Given the description of an element on the screen output the (x, y) to click on. 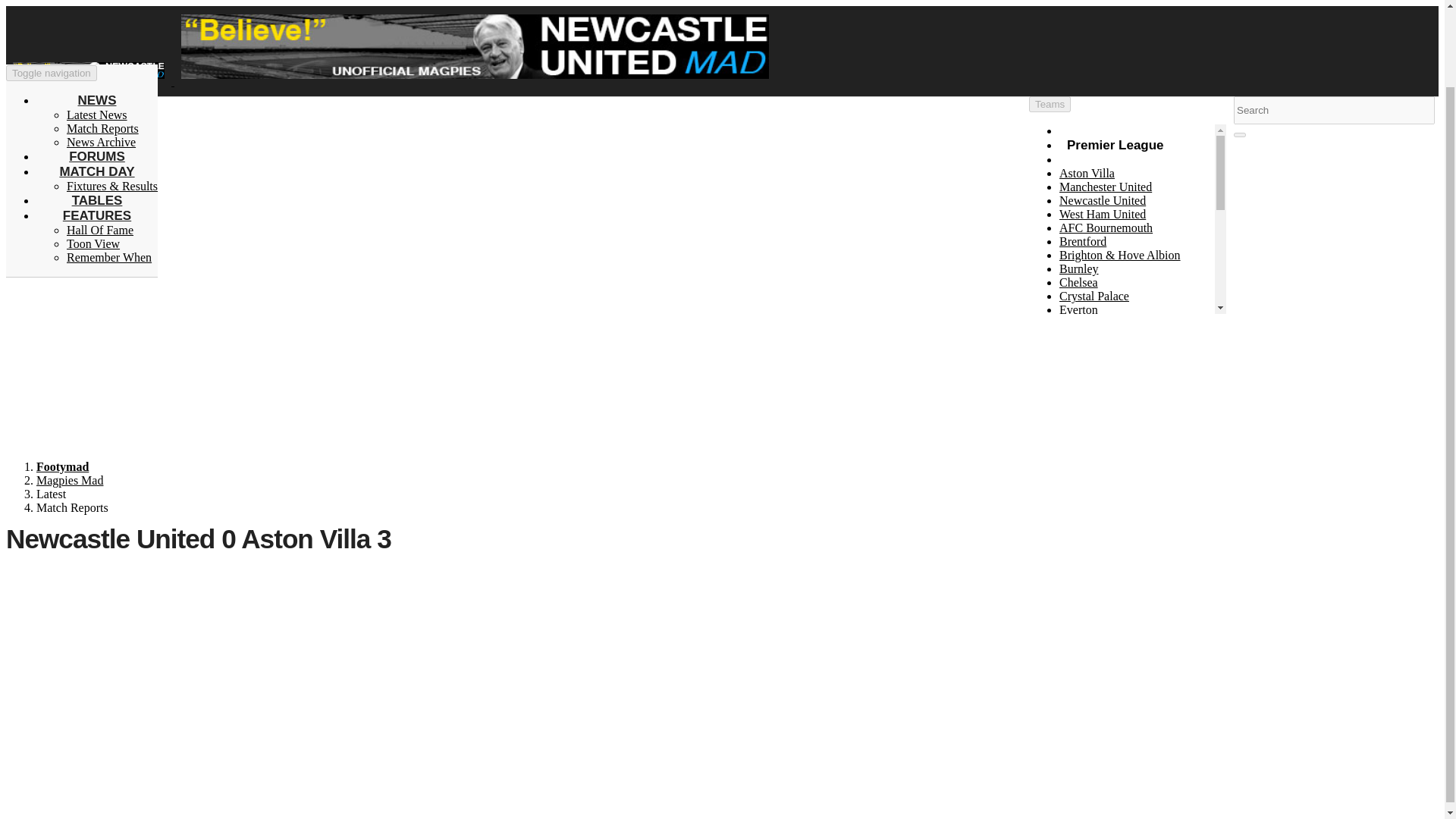
Aston Villa (1087, 173)
West Ham United (1102, 214)
Northern Ireland (1099, 502)
FORUMS (96, 69)
Wolverhampton Wanderers (1125, 404)
Scotland (1080, 529)
News Archive (100, 54)
Arsenal (1078, 418)
Burnley (1079, 268)
Everton (1078, 309)
